Given the description of an element on the screen output the (x, y) to click on. 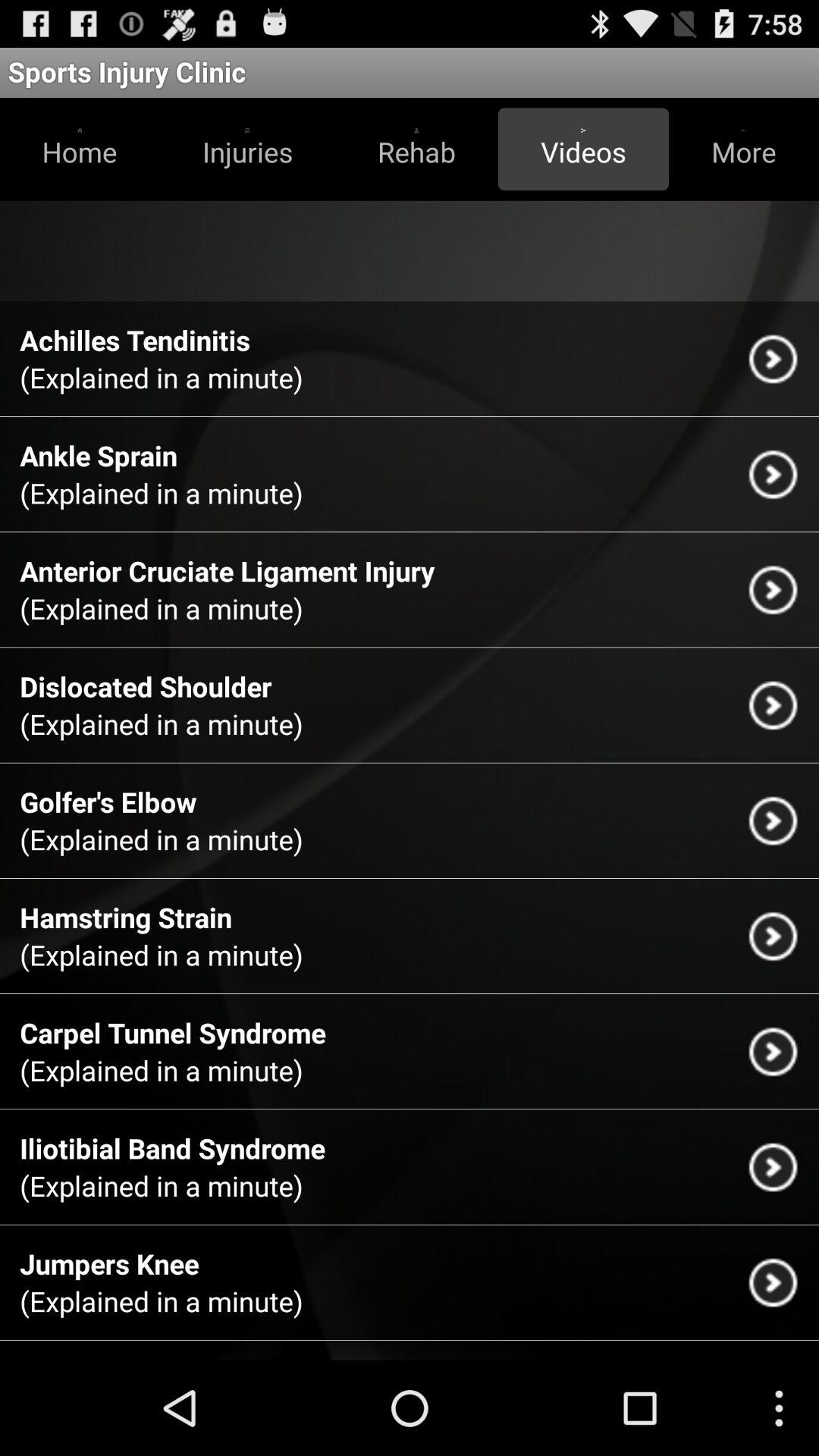
turn on the icon above the explained in a icon (145, 686)
